Given the description of an element on the screen output the (x, y) to click on. 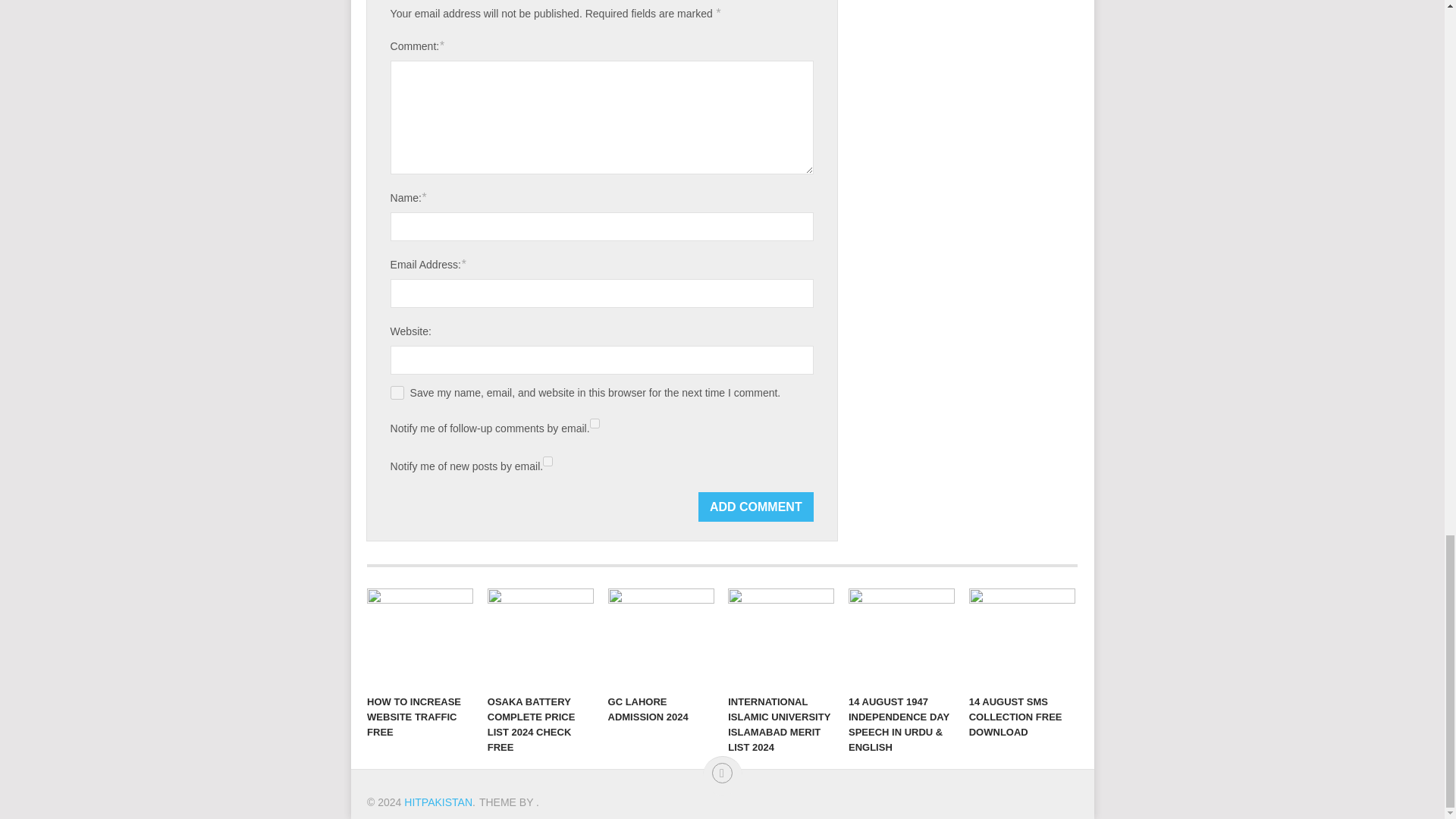
subscribe (594, 423)
yes (397, 392)
Add Comment (755, 506)
How To Increase Website Traffic Free (419, 637)
Add Comment (755, 506)
subscribe (548, 461)
